Given the description of an element on the screen output the (x, y) to click on. 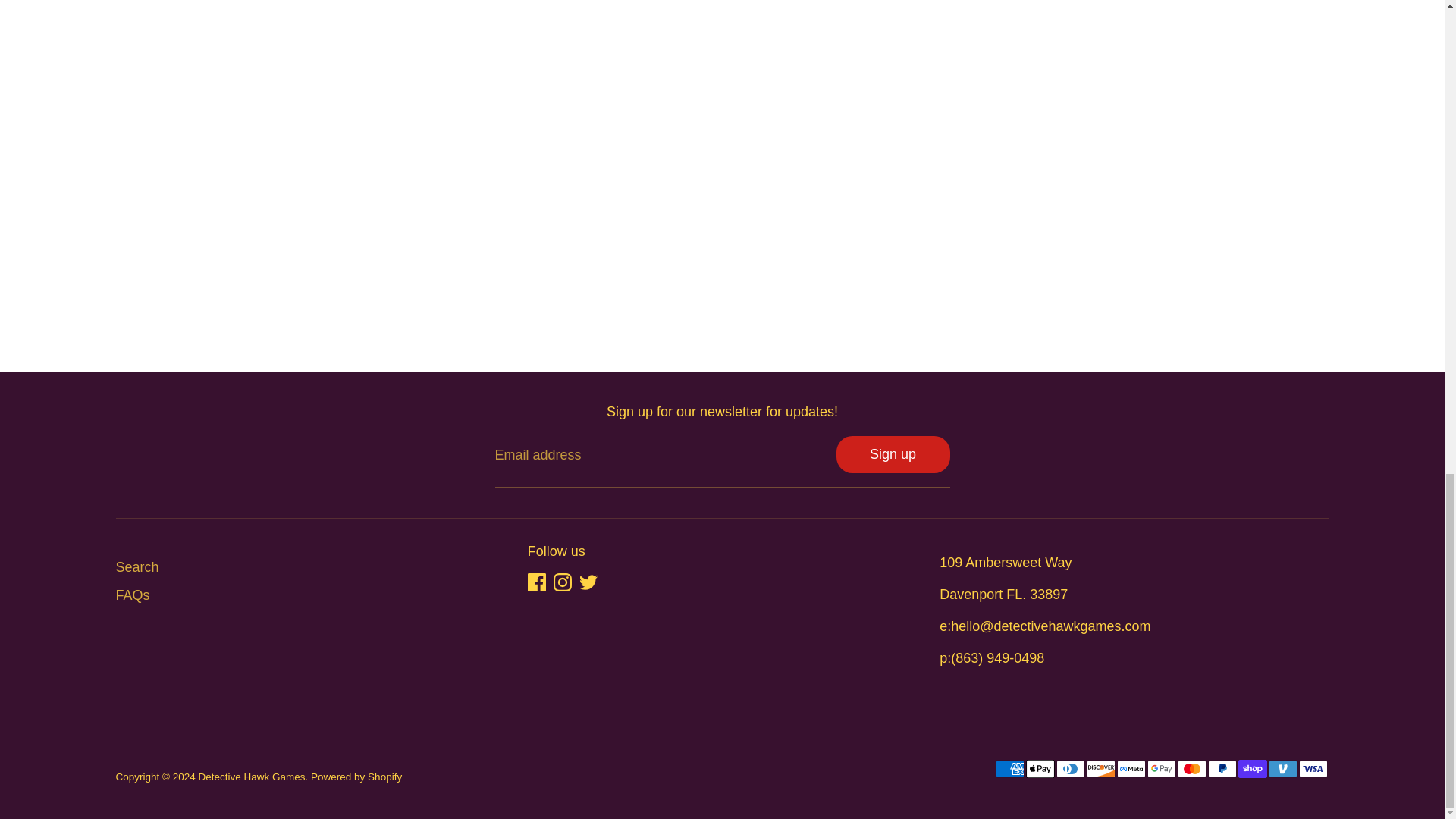
Meta Pay (1130, 769)
Apple Pay (1039, 769)
Discover (1100, 769)
Google Pay (1160, 769)
American Express (1008, 769)
Diners Club (1069, 769)
